Given the description of an element on the screen output the (x, y) to click on. 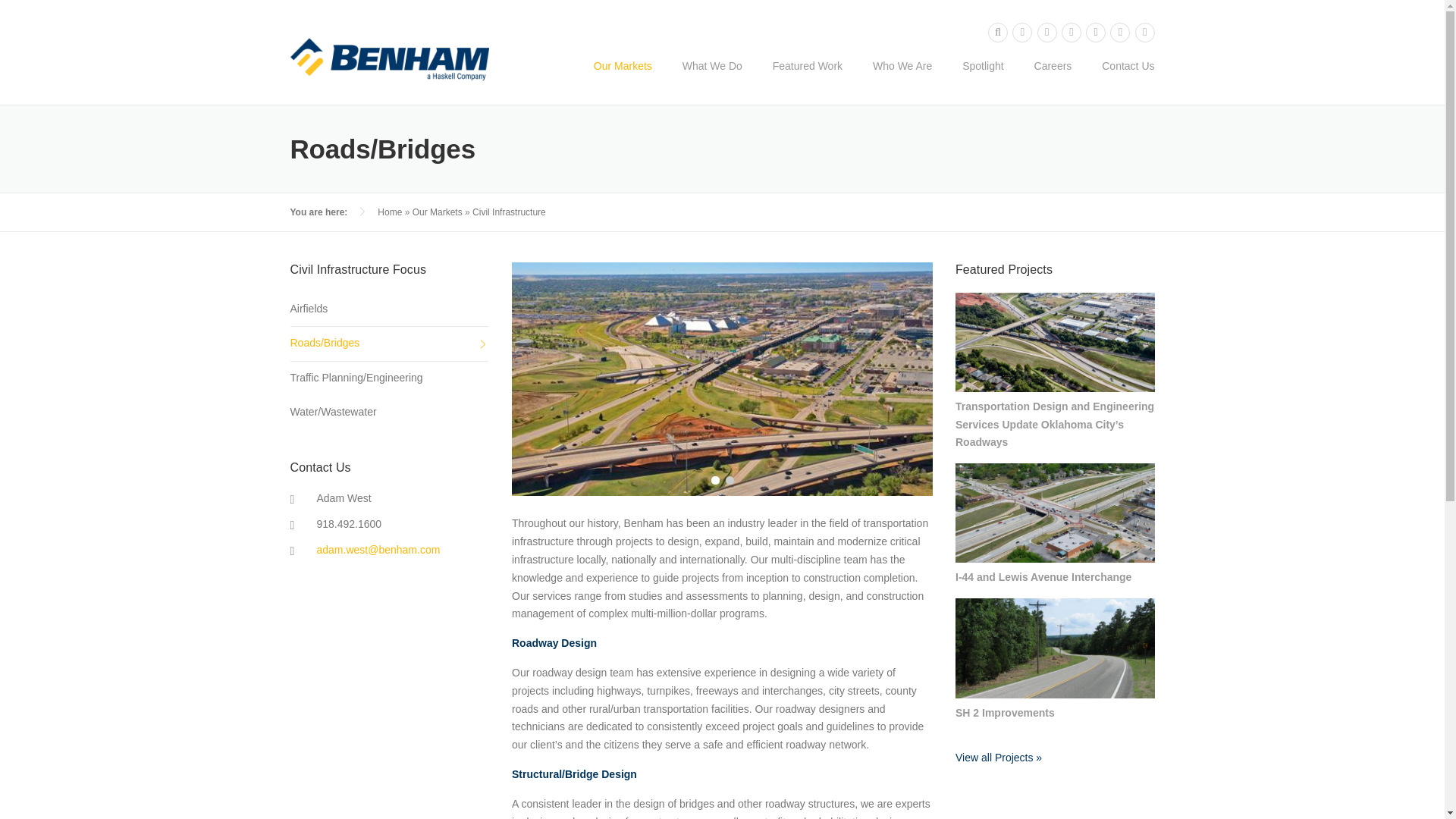
Facebook (1071, 32)
Our Markets (622, 71)
Careers (1053, 71)
Email (1144, 32)
Instagram (1095, 32)
Search (997, 32)
Who We Are (901, 71)
Linkedin (1021, 32)
Featured Work (807, 71)
